Given the description of an element on the screen output the (x, y) to click on. 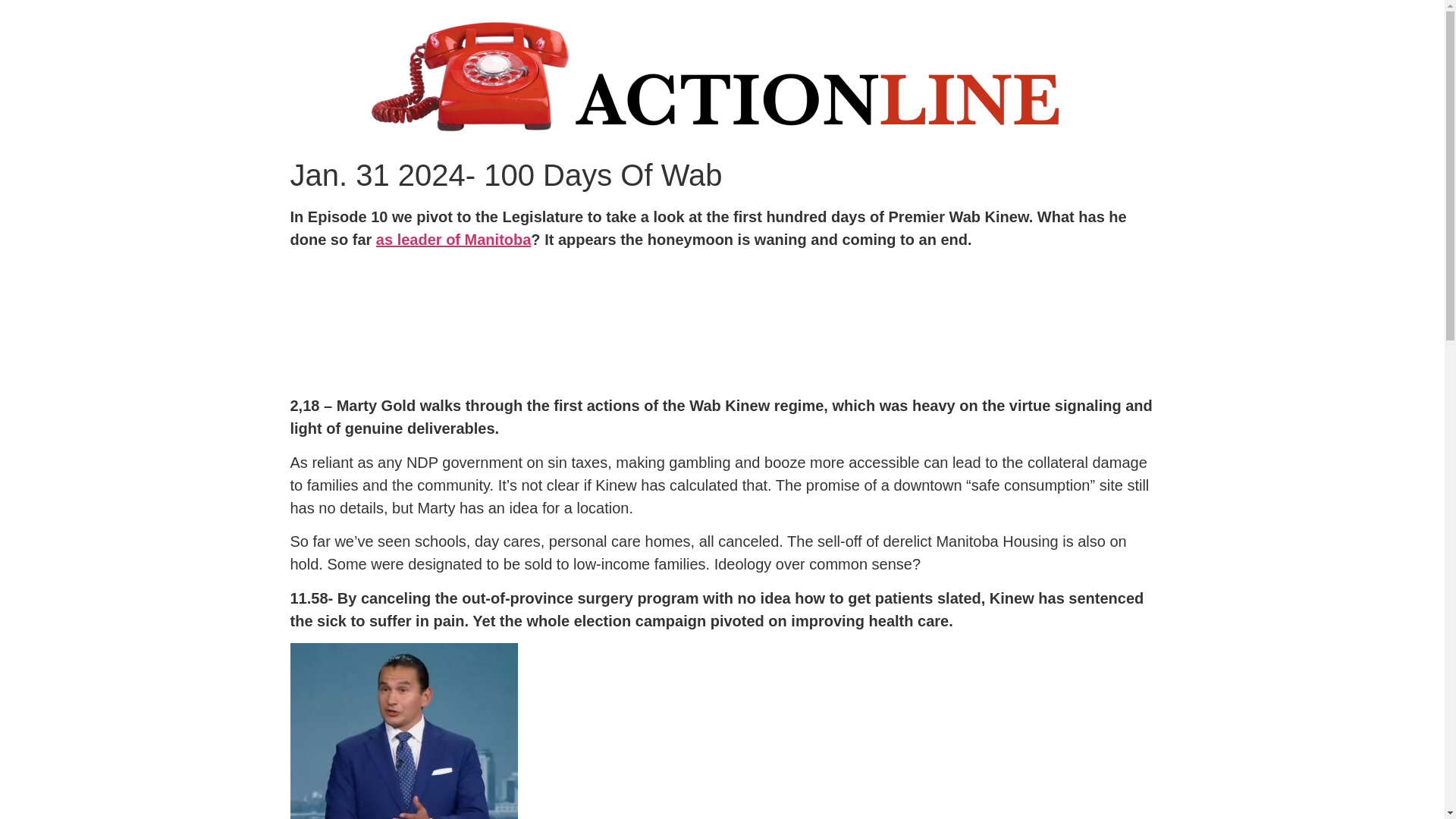
as leader of Manitoba (453, 239)
Spotify Embed: Jan. 31 2024- 100 Days Of Wab (721, 318)
actionline-logo001 (721, 75)
